Given the description of an element on the screen output the (x, y) to click on. 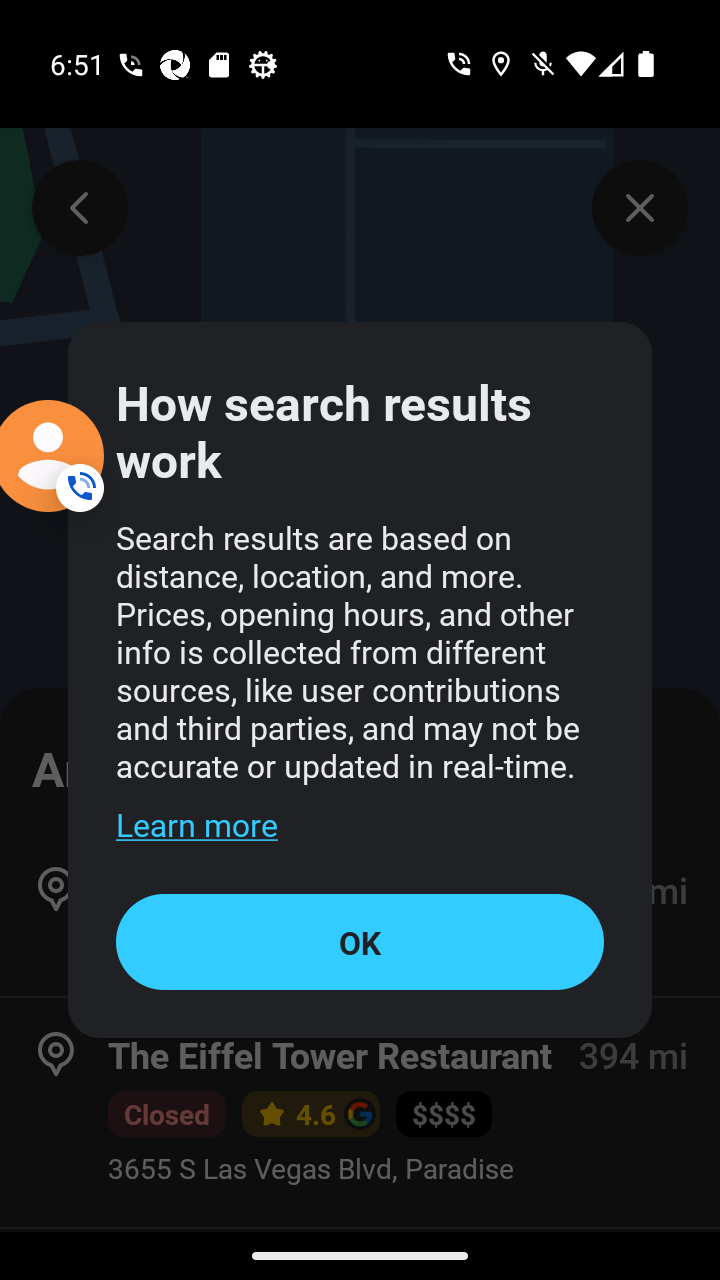
Learn more (196, 824)
OK (359, 941)
